Given the description of an element on the screen output the (x, y) to click on. 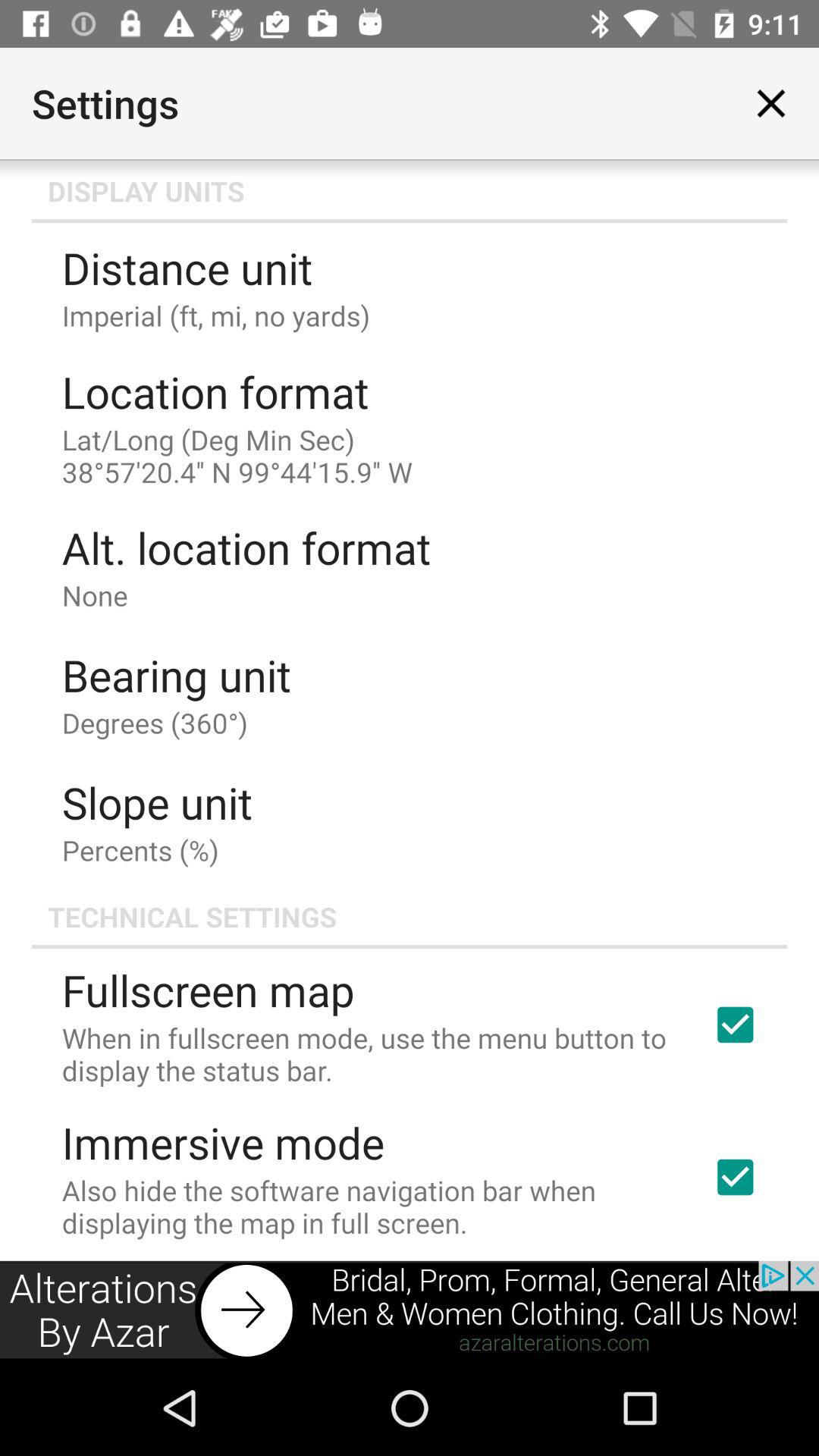
click to view advertisements icon (409, 1310)
